Given the description of an element on the screen output the (x, y) to click on. 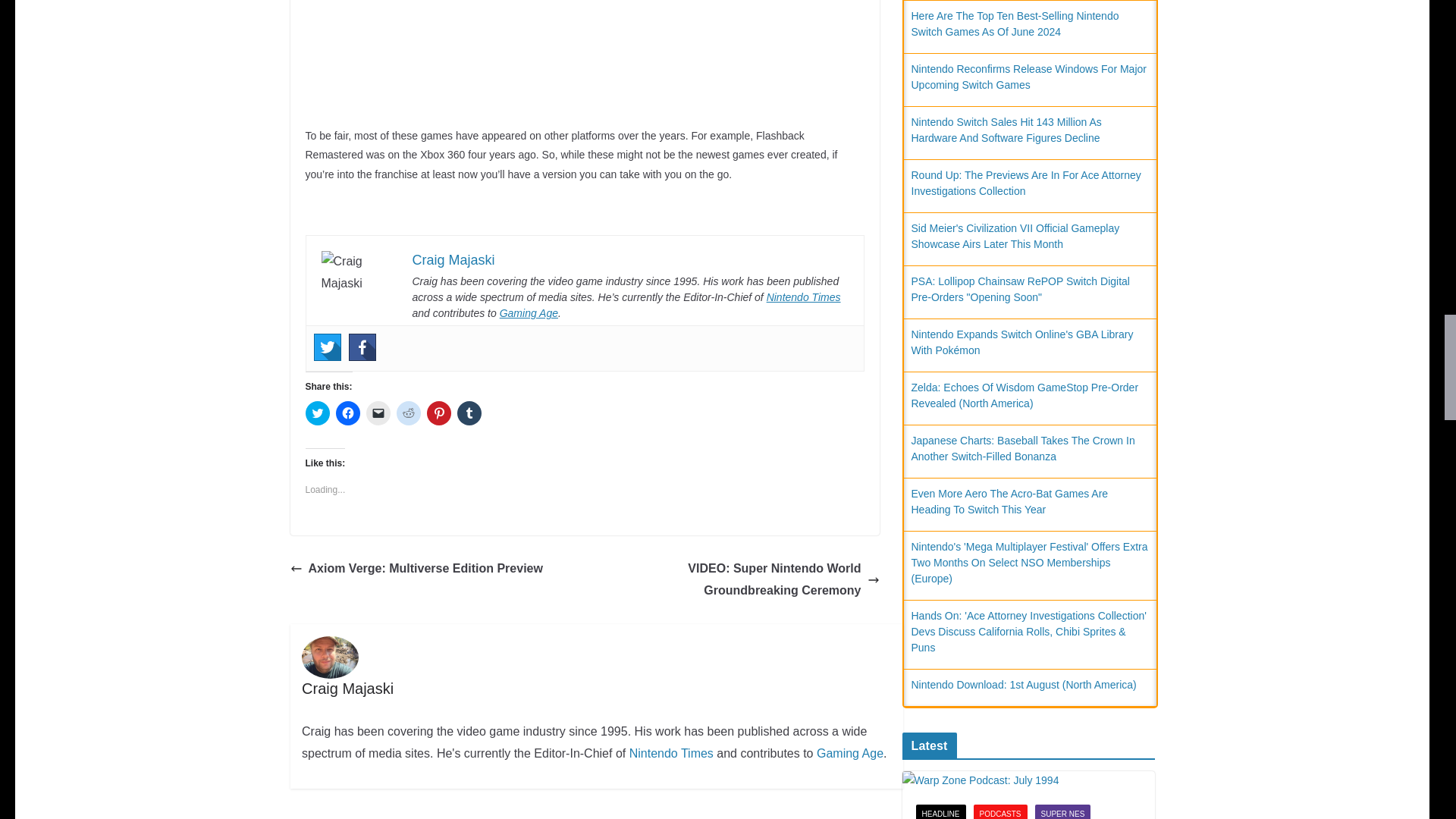
Nintendo Times (804, 297)
Click to share on Tumblr (468, 413)
Craig Majaski (453, 259)
Click to email a link to a friend (377, 413)
Click to share on Facebook (346, 413)
Click to share on Twitter (316, 413)
Facebook (362, 347)
Click to share on Reddit (408, 413)
Twitter (327, 347)
Gaming Age (528, 313)
Click to share on Pinterest (437, 413)
